Given the description of an element on the screen output the (x, y) to click on. 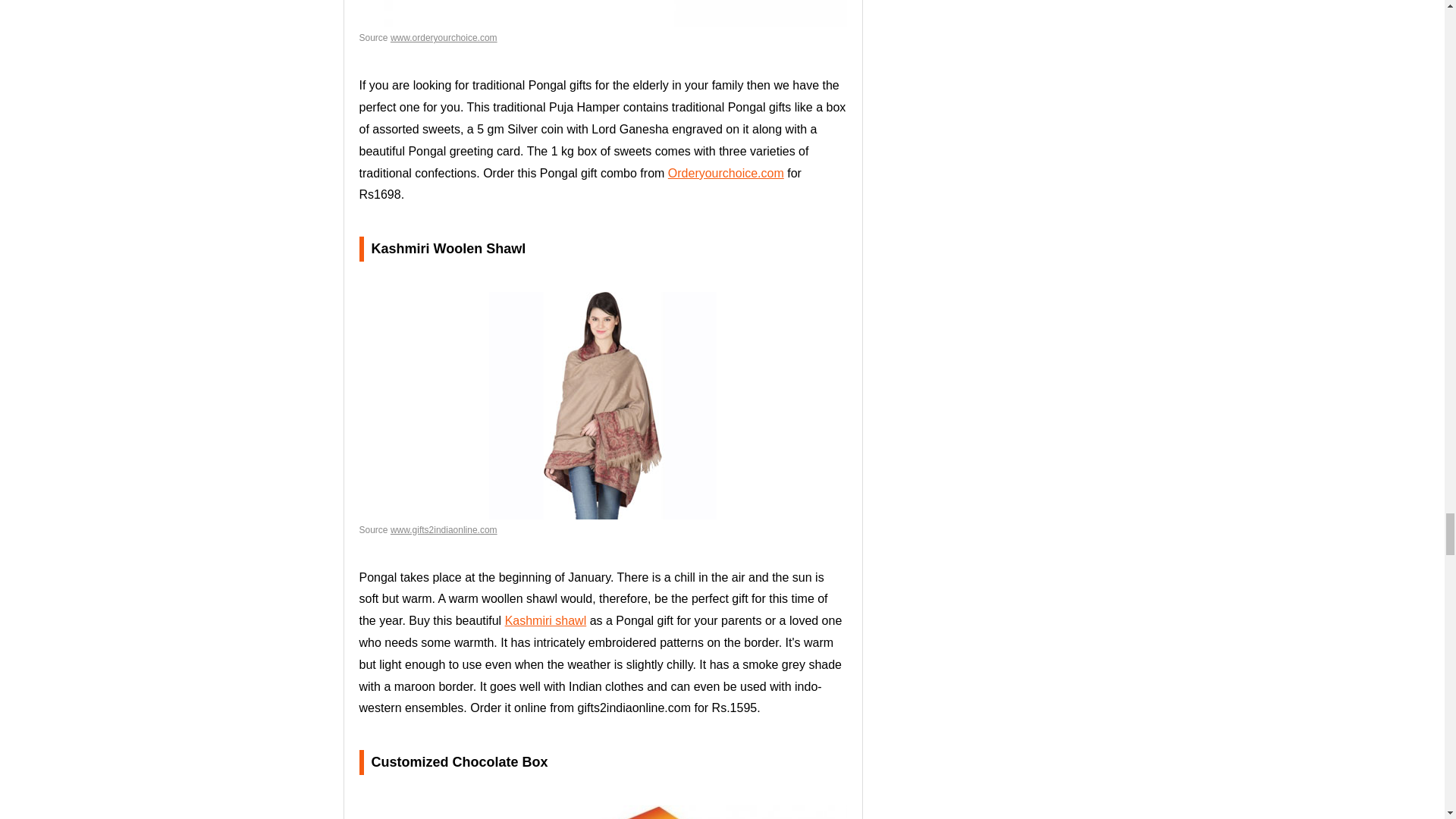
www.orderyourchoice.com (443, 37)
www.gifts2indiaonline.com (443, 529)
Kashmiri shawl (545, 620)
Orderyourchoice.com (726, 173)
